Given the description of an element on the screen output the (x, y) to click on. 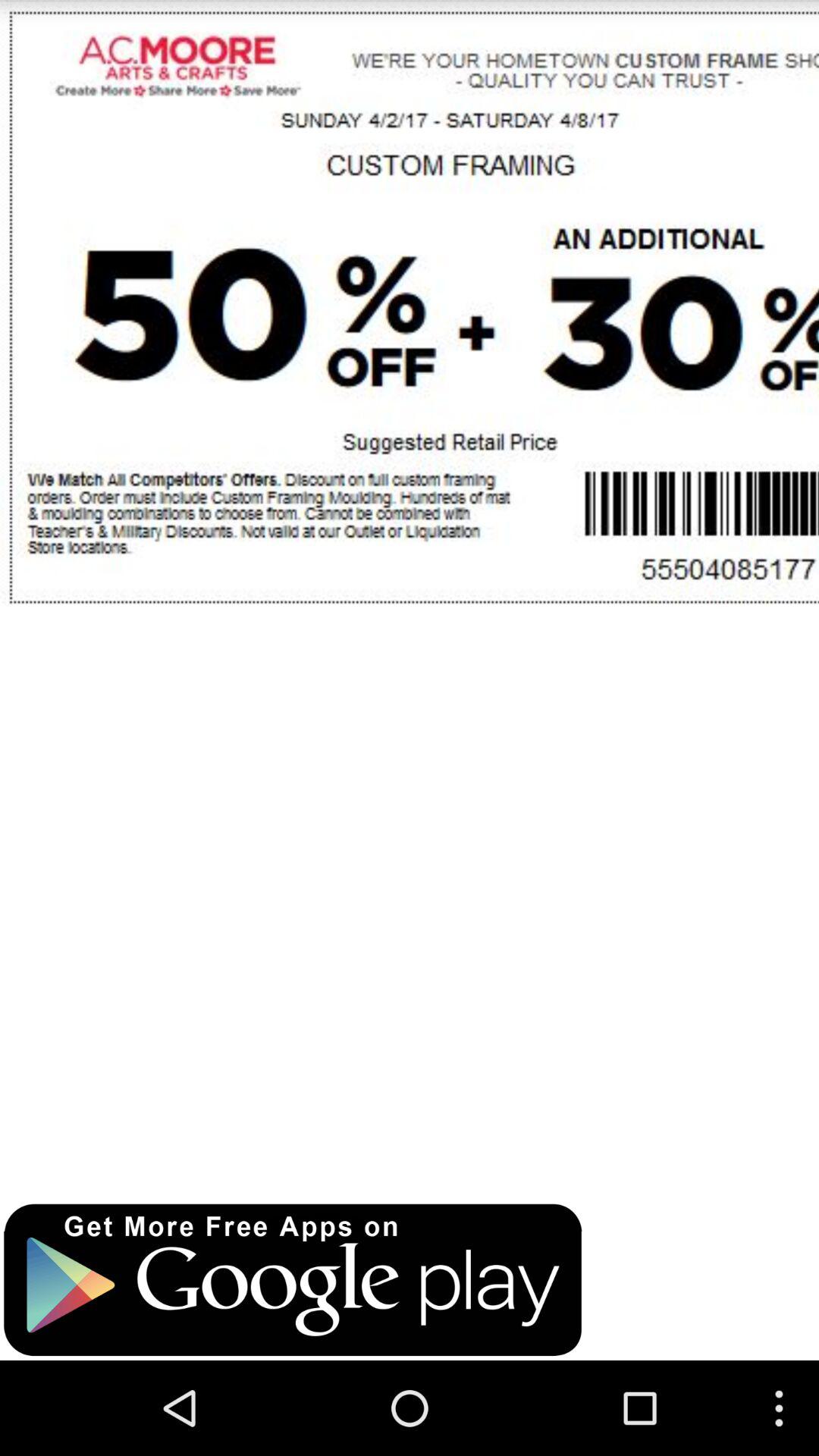
acmoore (409, 594)
